Given the description of an element on the screen output the (x, y) to click on. 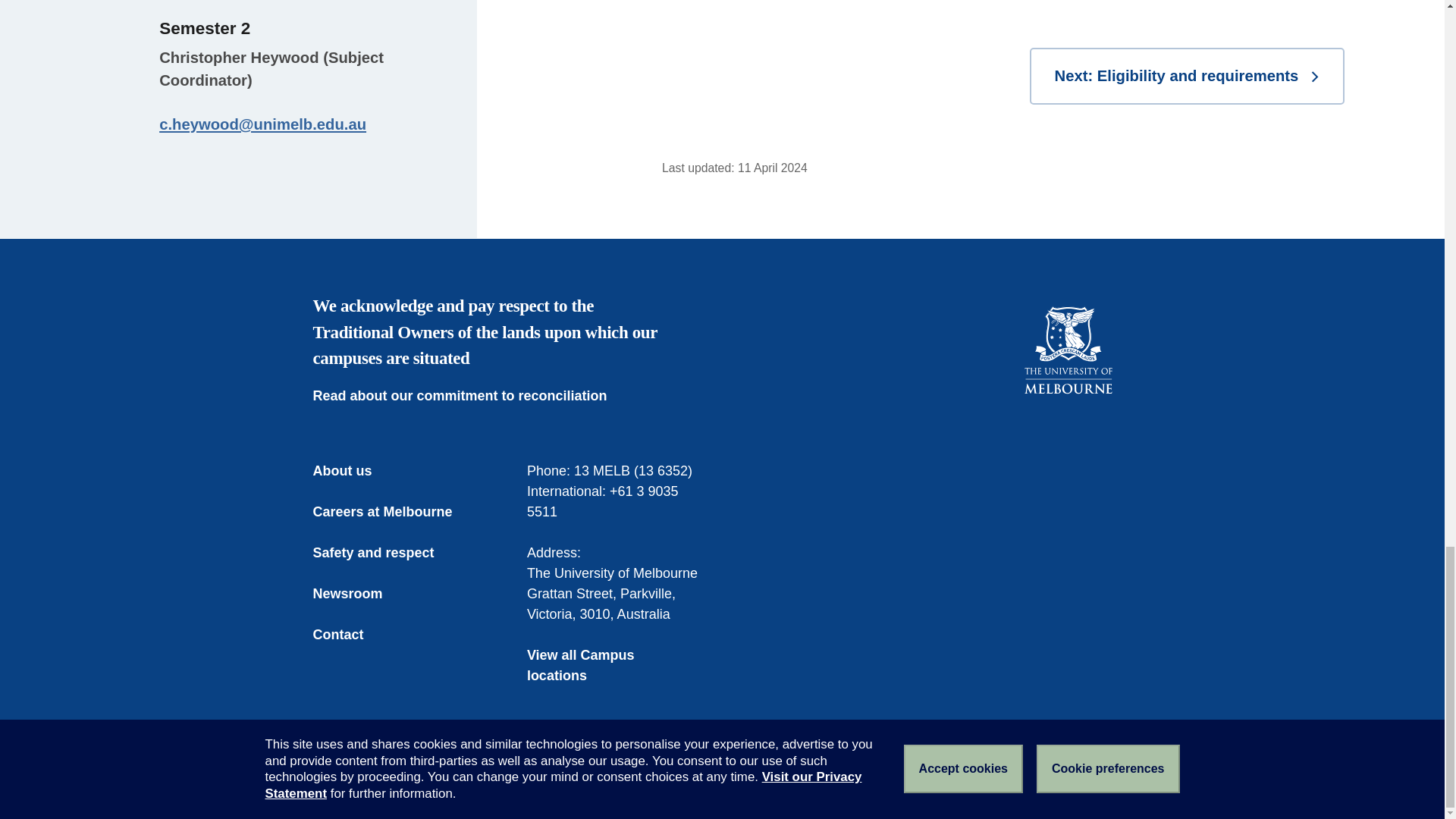
Facebook (1019, 448)
Careers at Melbourne (393, 512)
Next: Eligibility and requirements (1186, 75)
Privacy (604, 780)
Contact (349, 634)
Newsroom (358, 593)
Instagram (1115, 448)
Emergency (345, 780)
About us (353, 471)
Twitter (1051, 448)
LinkedIn (1083, 448)
Read about our commitment to reconciliation (470, 395)
View all Campus locations (615, 665)
Accessibility (532, 780)
Safety and respect (384, 552)
